Given the description of an element on the screen output the (x, y) to click on. 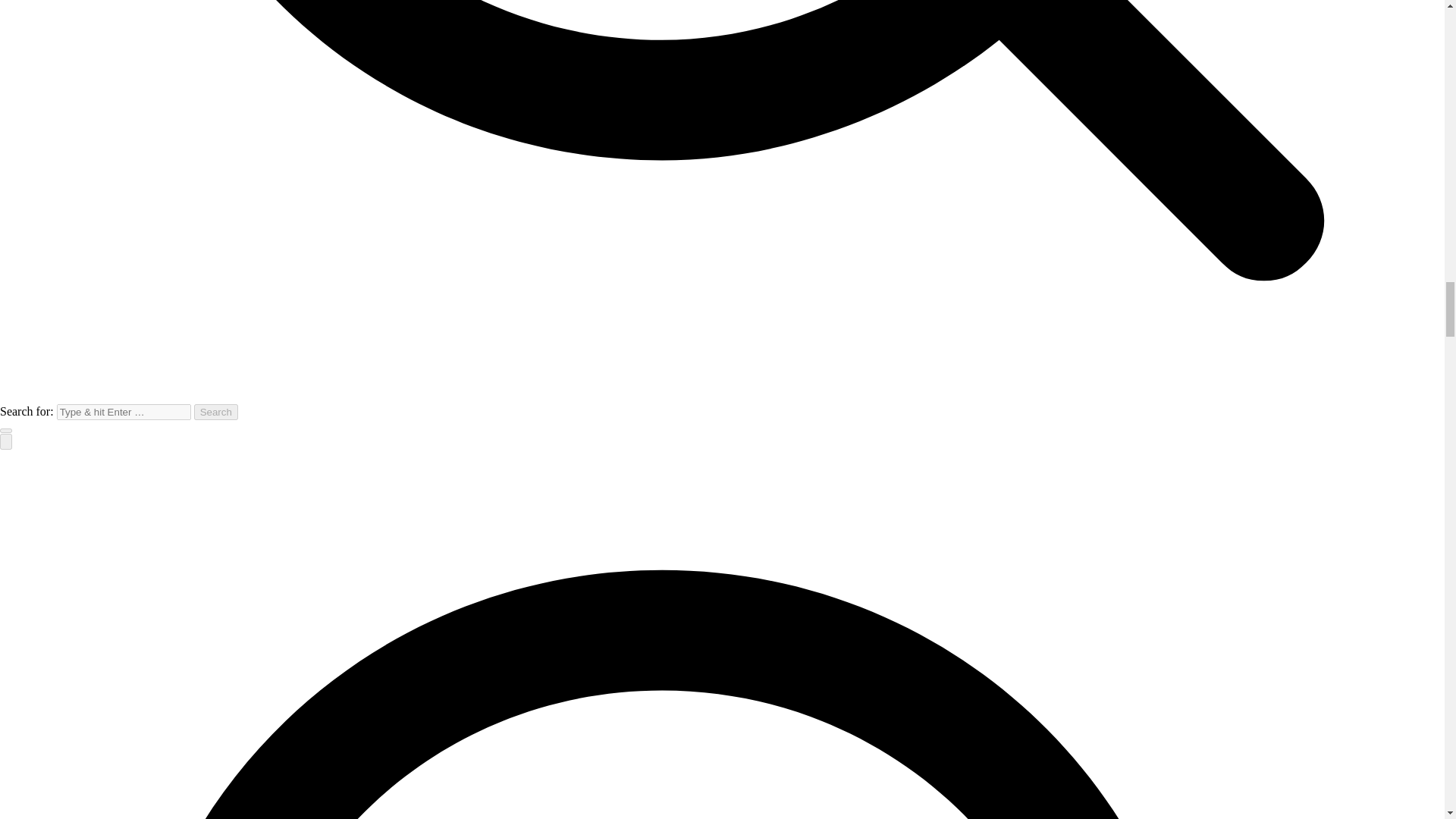
Search (215, 412)
Search (215, 412)
Search (215, 412)
Search for: (123, 412)
